Given the description of an element on the screen output the (x, y) to click on. 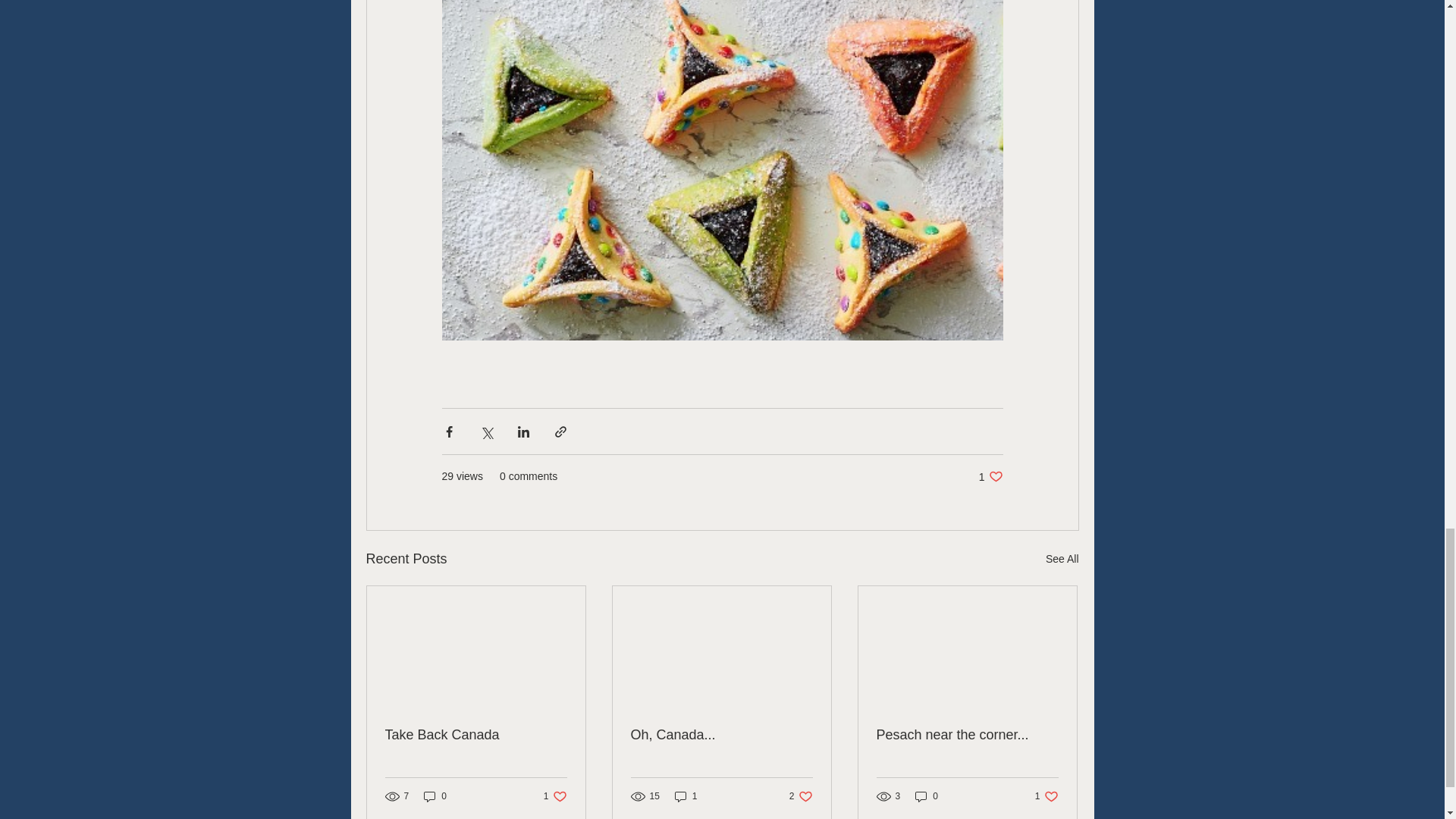
Take Back Canada (476, 734)
0 (990, 476)
See All (435, 796)
